Given the description of an element on the screen output the (x, y) to click on. 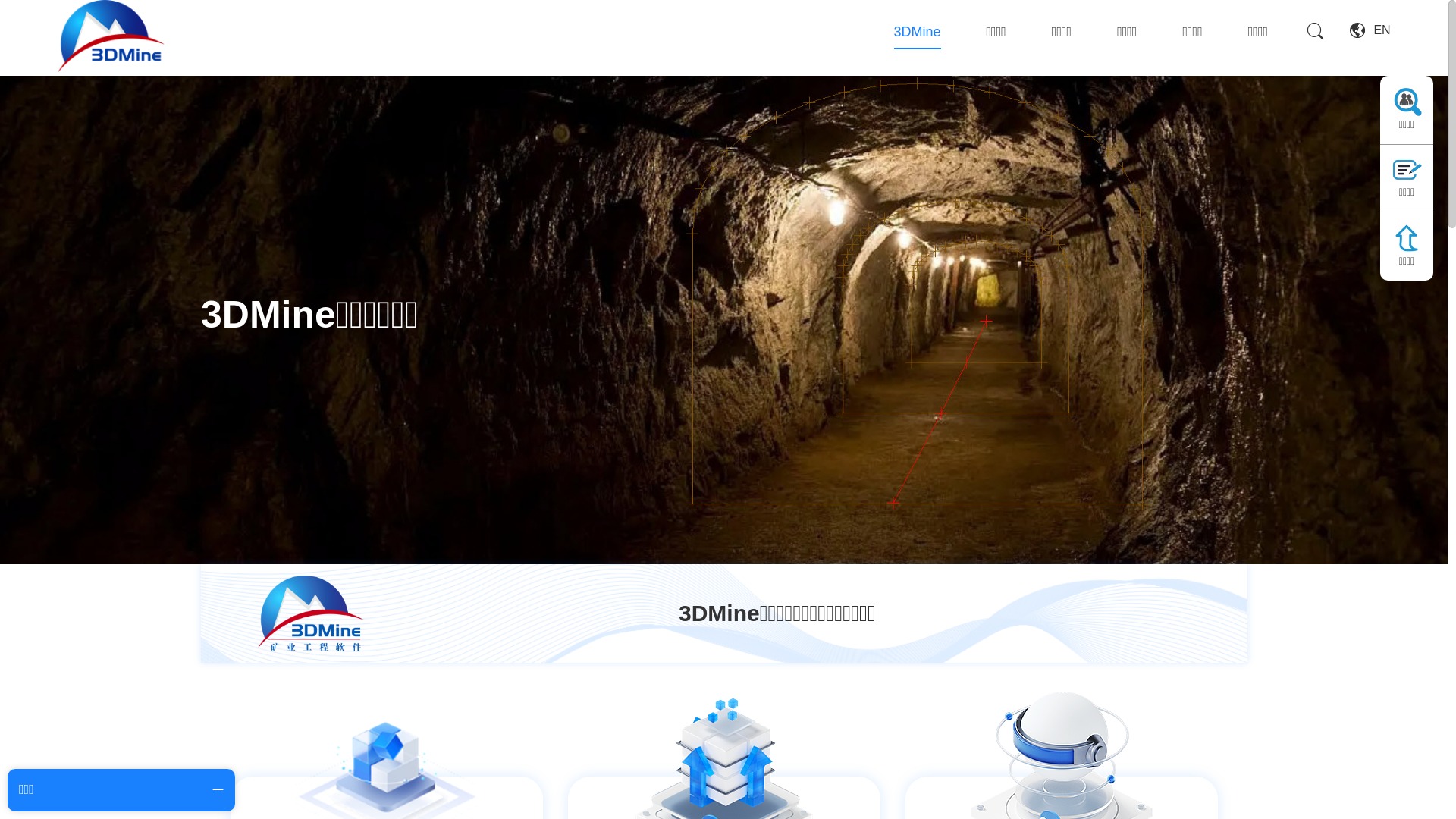
3DMine Element type: text (917, 32)
EN Element type: text (1369, 30)
